Given the description of an element on the screen output the (x, y) to click on. 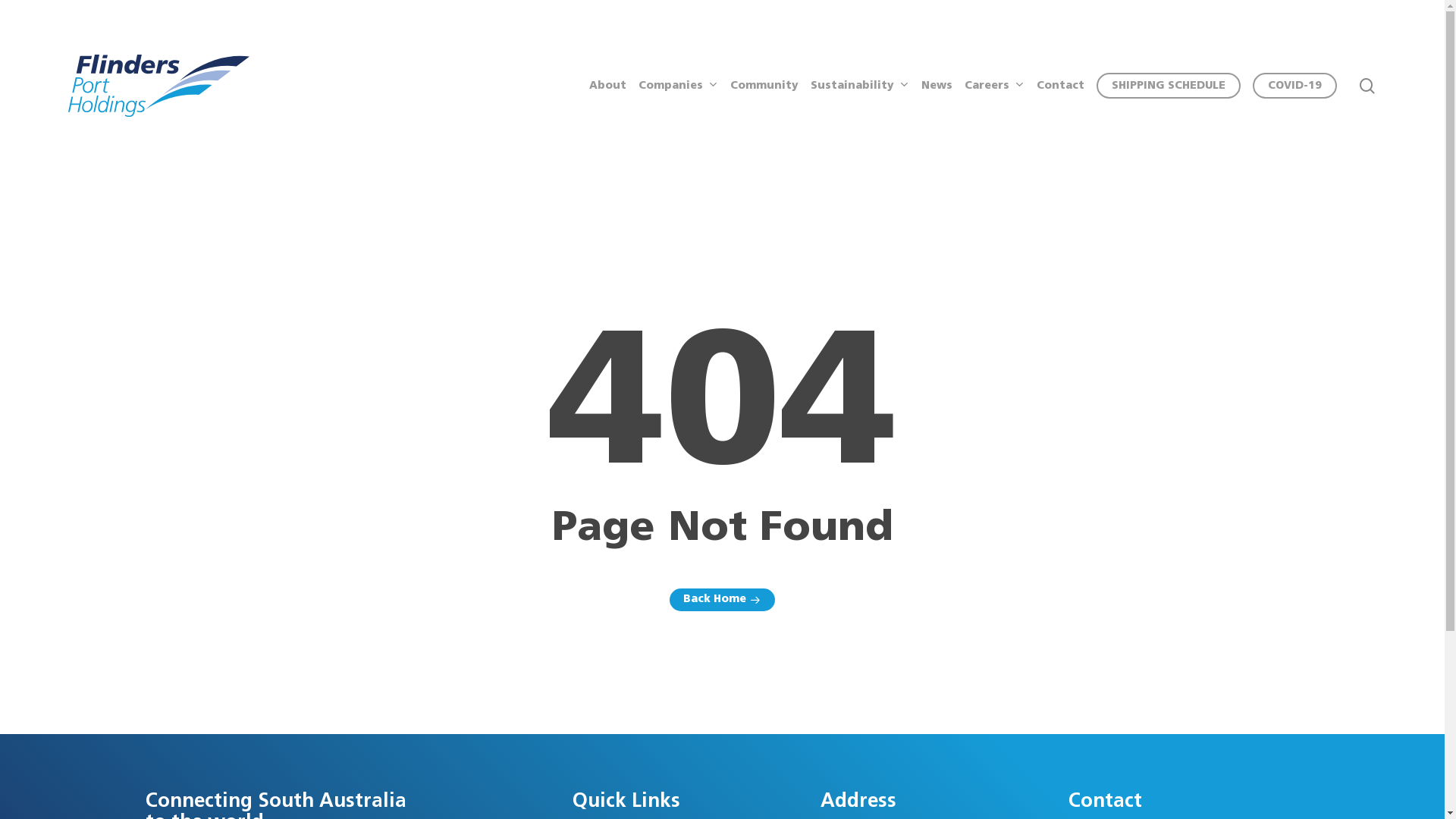
Sustainability Element type: text (859, 85)
COVID-19 Element type: text (1294, 85)
About Element type: text (607, 85)
SHIPPING SCHEDULE Element type: text (1168, 85)
News Element type: text (936, 85)
Back Home Element type: text (722, 599)
search Element type: text (1367, 85)
Careers Element type: text (994, 85)
Companies Element type: text (678, 85)
Community Element type: text (764, 85)
Contact Element type: text (1060, 85)
